Given the description of an element on the screen output the (x, y) to click on. 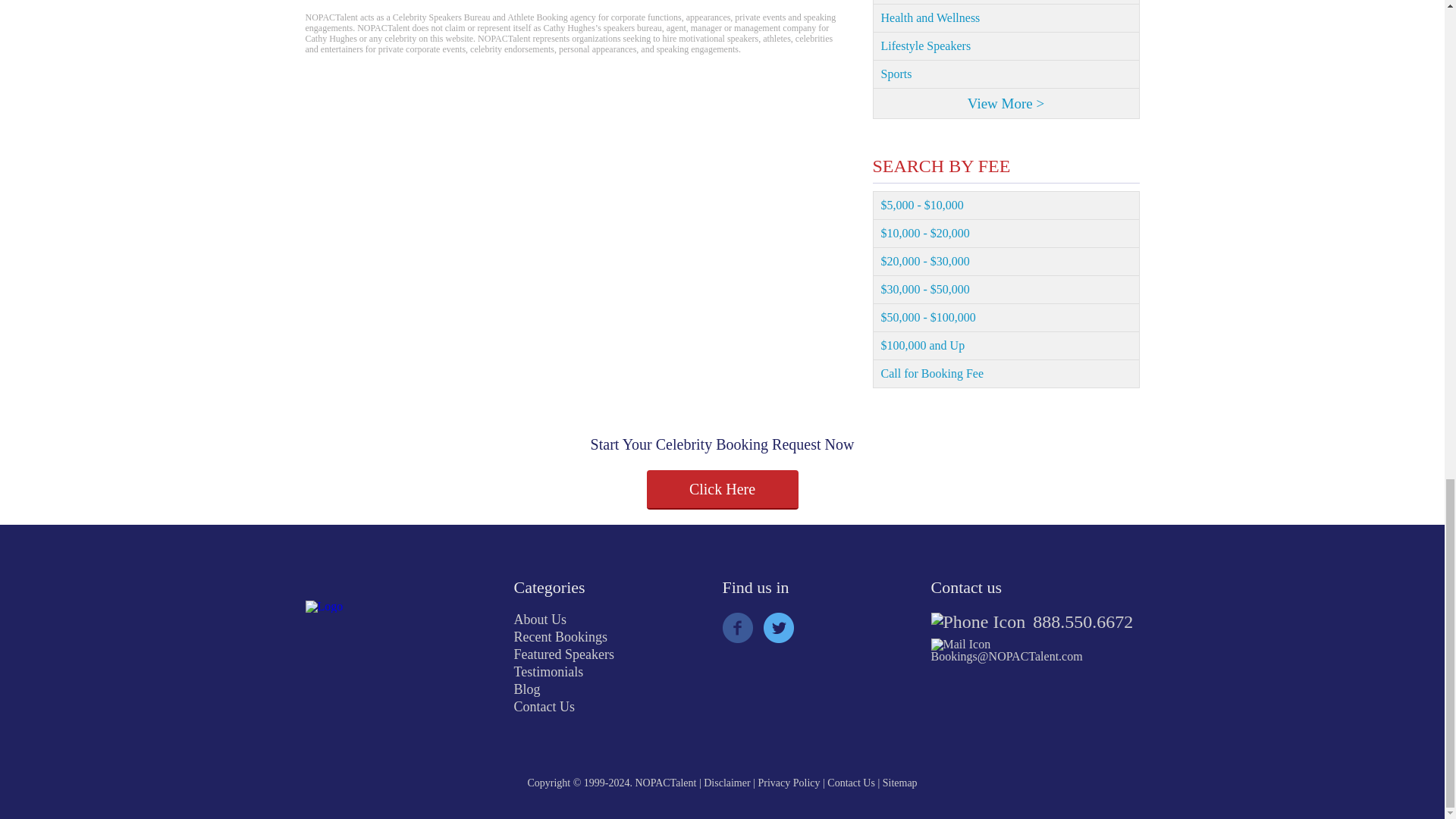
Health and Wellness (1005, 18)
Entertainment (1005, 2)
Sports (1005, 74)
Lifestyle Speakers (1005, 46)
